Given the description of an element on the screen output the (x, y) to click on. 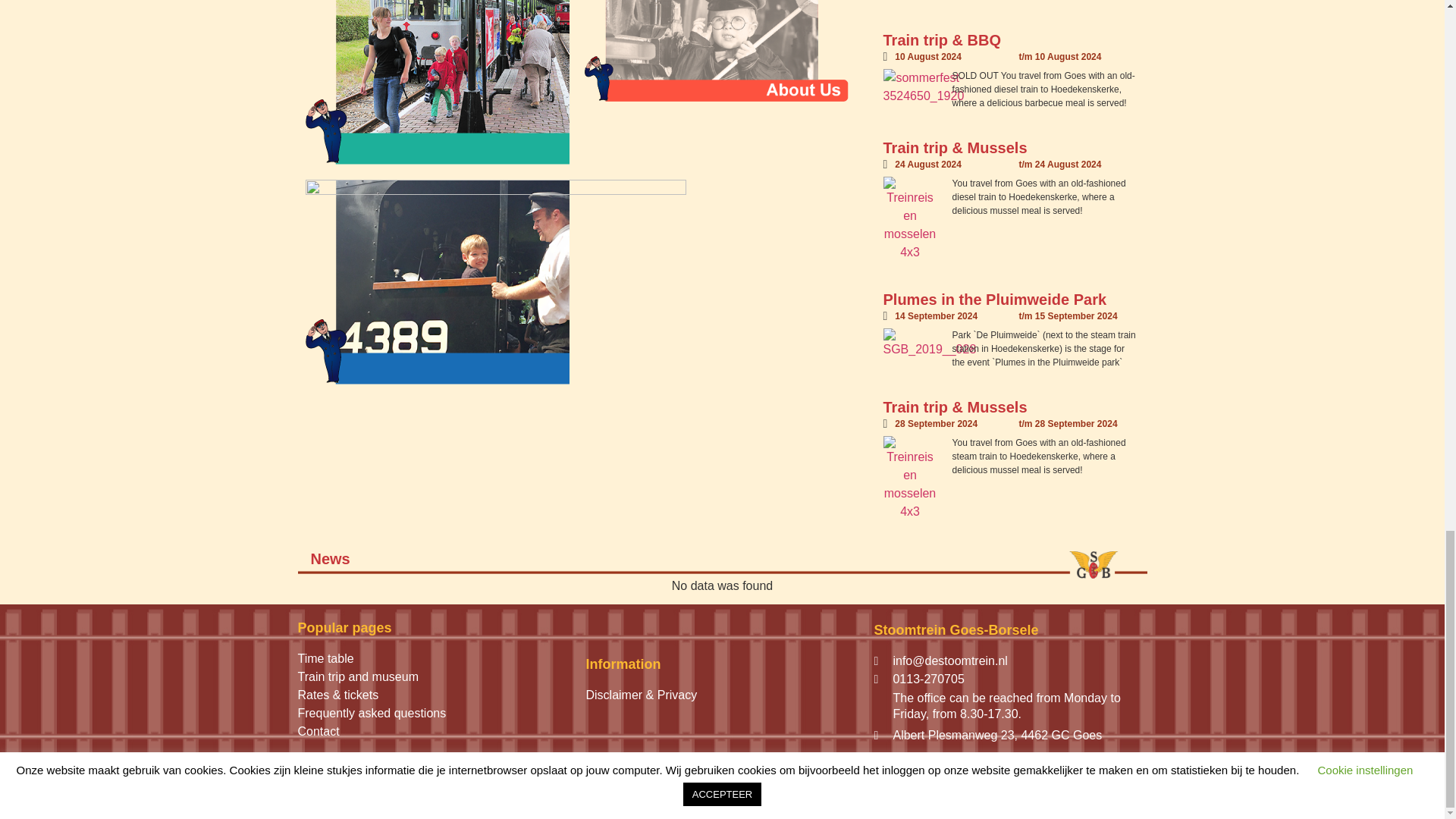
geregistreerd-museum-100 (358, 792)
